Given the description of an element on the screen output the (x, y) to click on. 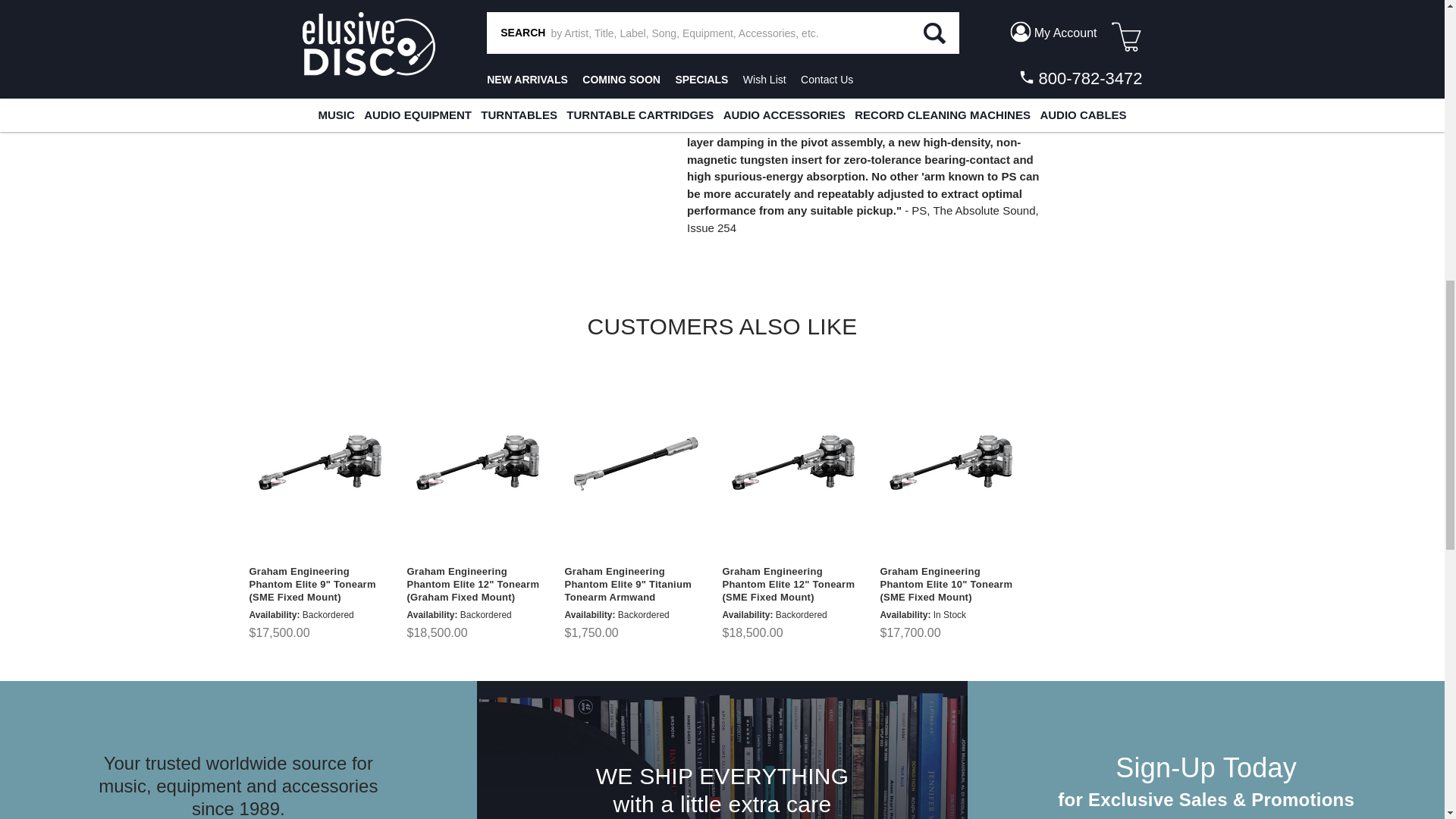
Graham Engineering Phantom Elite 9" Titanium Tonearm Armwand (634, 464)
